Given the description of an element on the screen output the (x, y) to click on. 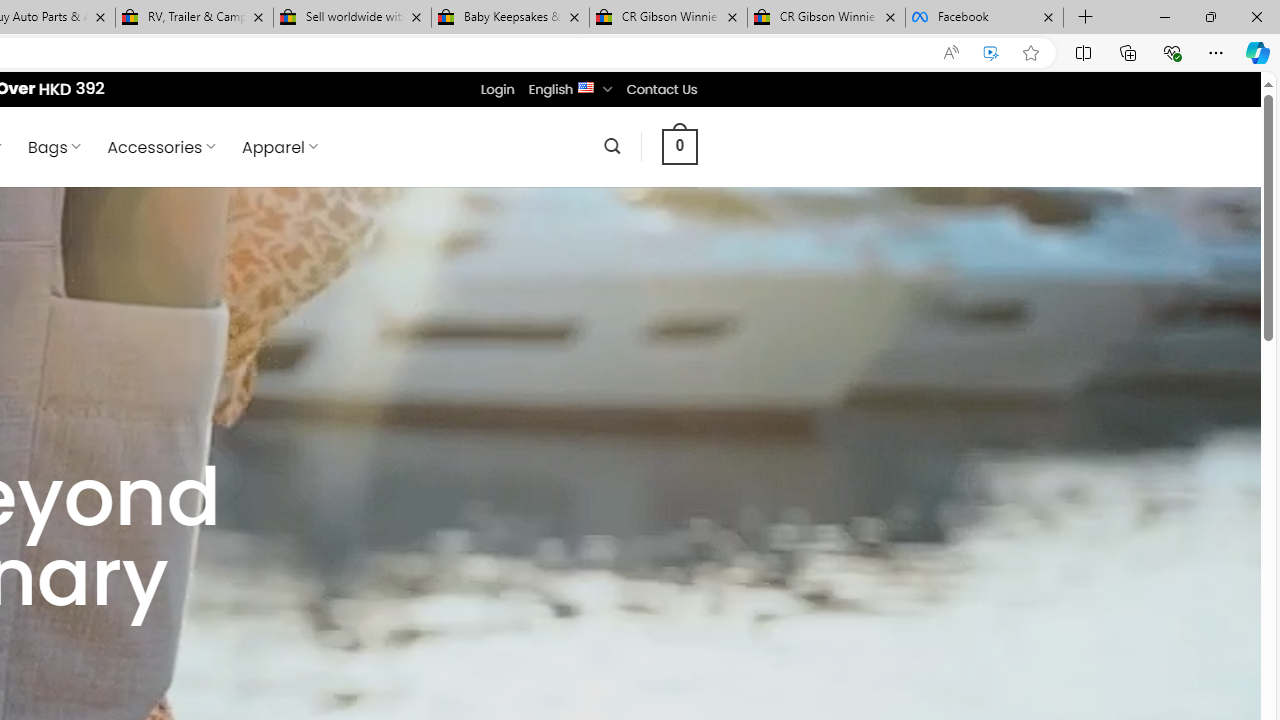
  0   (679, 146)
Facebook (984, 17)
Contact Us (661, 89)
Login (497, 89)
Sell worldwide with eBay (352, 17)
Contact Us (661, 89)
